Given the description of an element on the screen output the (x, y) to click on. 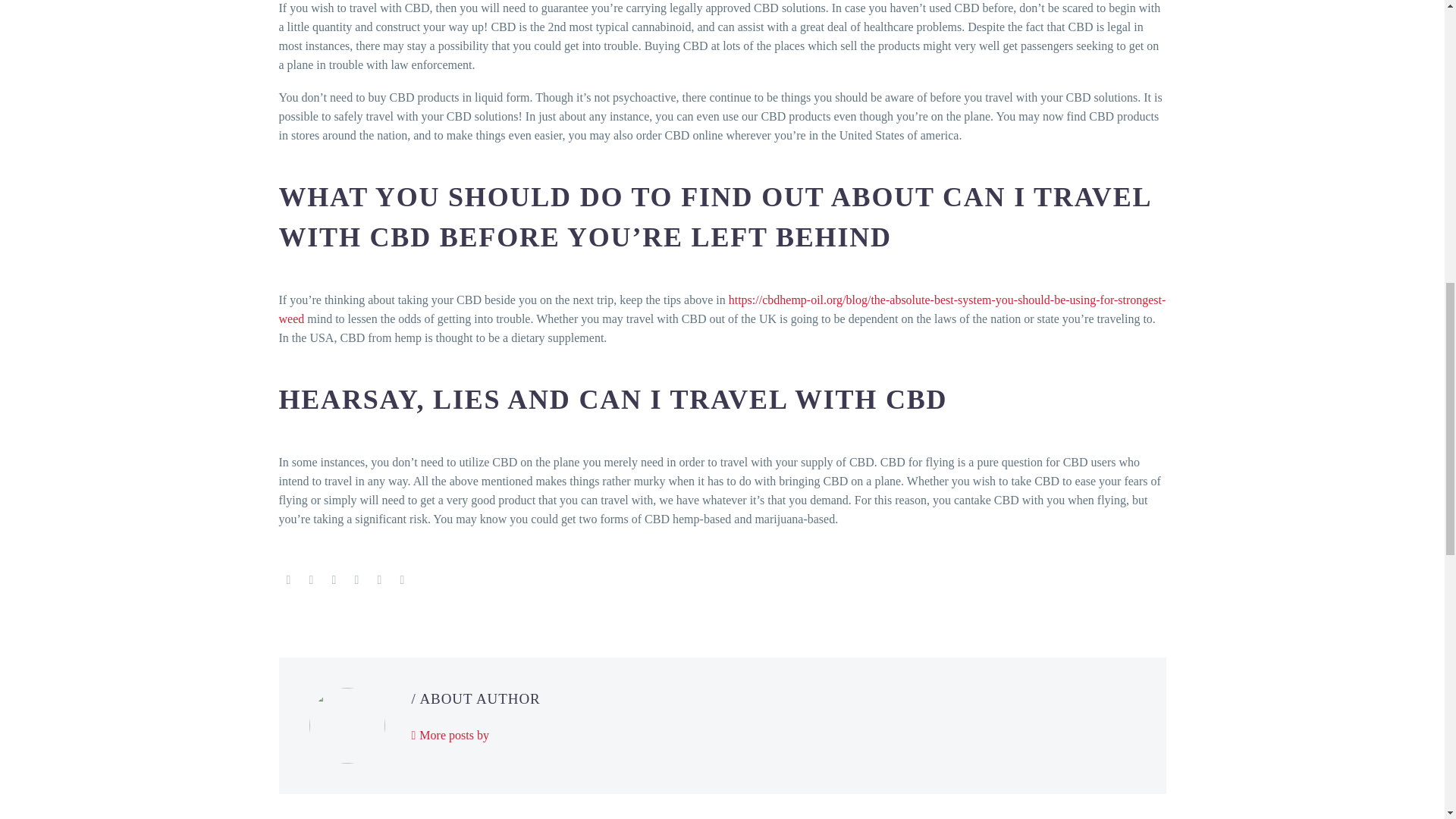
Reddit (401, 580)
Tumblr (356, 580)
Pinterest (333, 580)
LinkedIn (378, 580)
More posts by (448, 735)
Twitter (310, 580)
Facebook (288, 580)
